Given the description of an element on the screen output the (x, y) to click on. 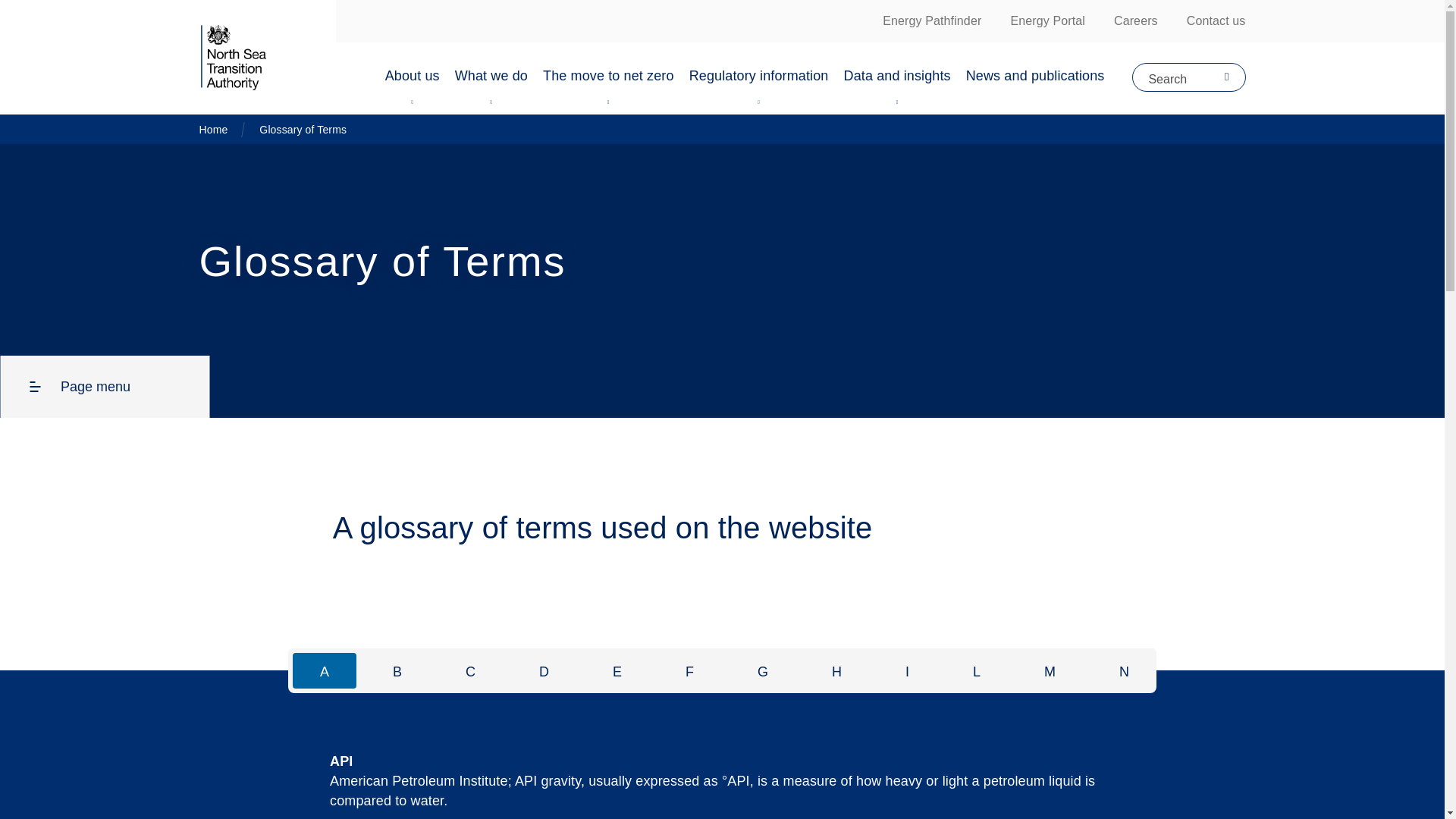
Energy Pathfinder (931, 21)
Contact us (1216, 21)
Careers (1135, 21)
Toggle Menu (411, 99)
About us (411, 78)
Energy Portal (1047, 21)
